Given the description of an element on the screen output the (x, y) to click on. 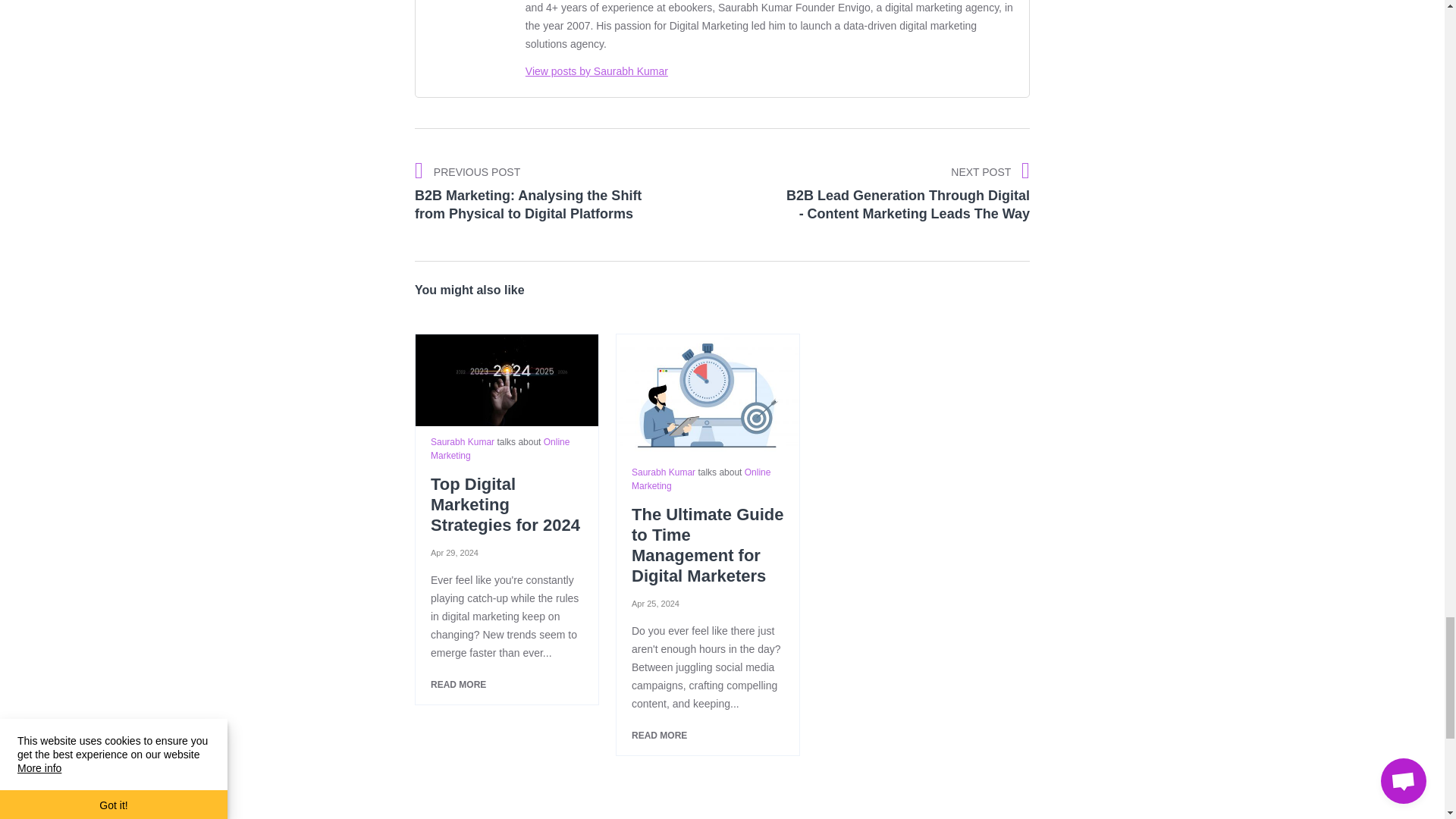
The Ultimate Guide to Time Management for Digital Marketers (707, 395)
Top Digital Marketing Strategies for 2024 (506, 379)
